Given the description of an element on the screen output the (x, y) to click on. 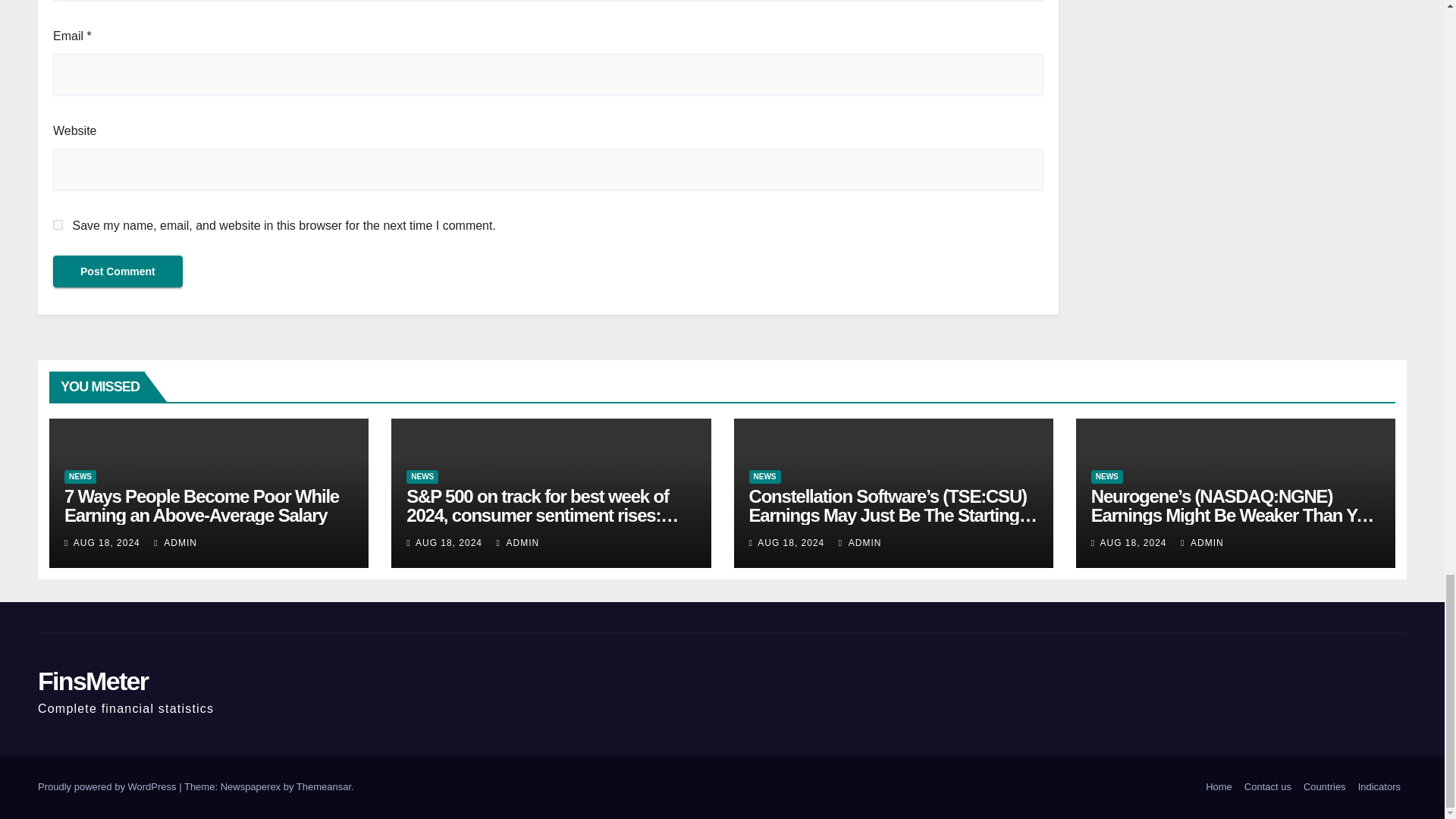
yes (57, 225)
Post Comment (117, 271)
